Given the description of an element on the screen output the (x, y) to click on. 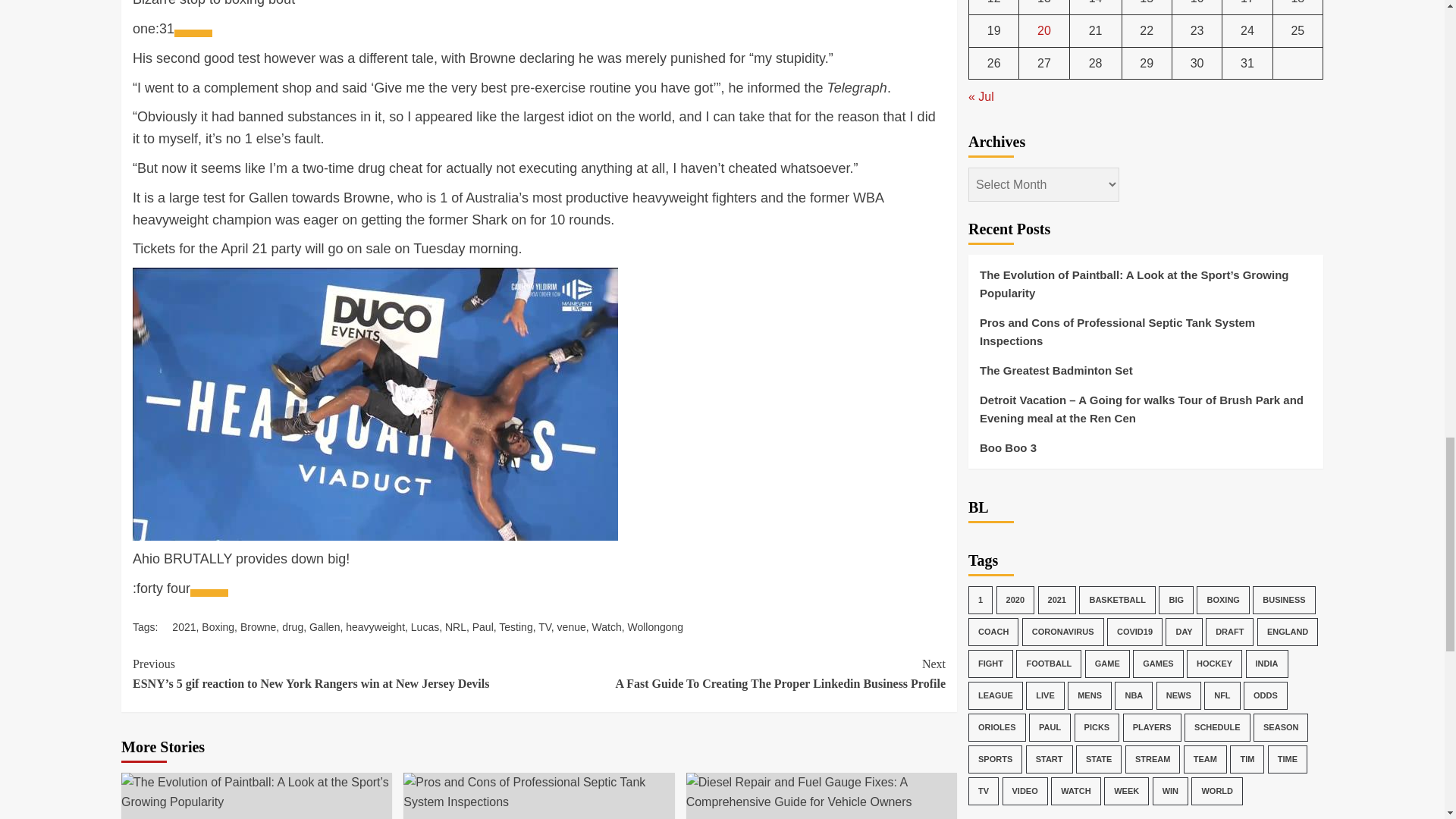
Browne (258, 626)
2021 (183, 626)
Play this video (209, 592)
heavyweight (375, 626)
drug (292, 626)
Tags: (151, 626)
Gallen (323, 626)
NRL (455, 626)
TV (544, 626)
Testing (515, 626)
